Given the description of an element on the screen output the (x, y) to click on. 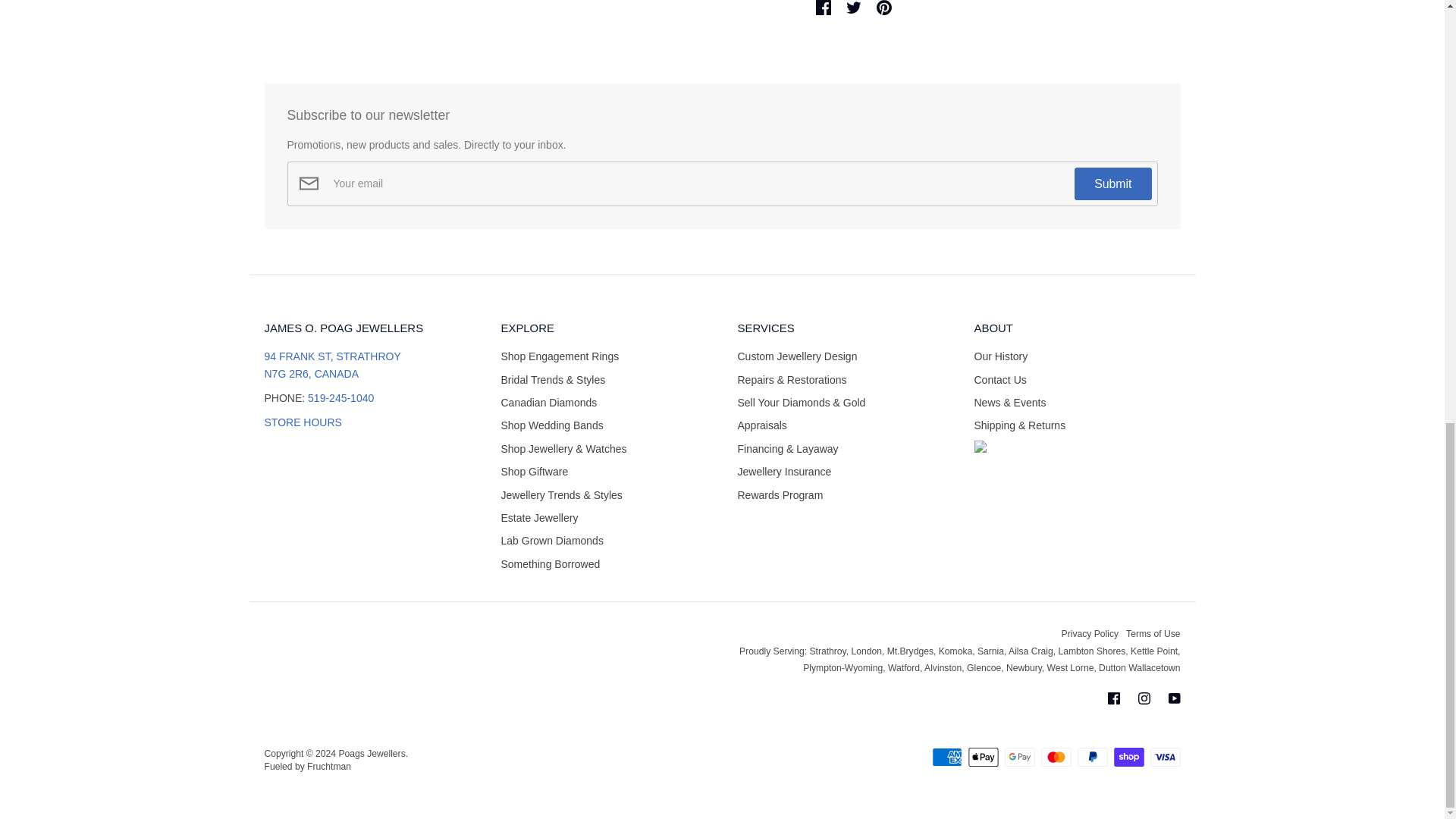
PayPal (1092, 756)
American Express (946, 756)
Mastercard (1056, 756)
Visa (1164, 756)
tel:5192451040 (340, 398)
Contact Us (301, 422)
Google Pay (1019, 756)
Shop Pay (1128, 756)
Apple Pay (983, 756)
